Given the description of an element on the screen output the (x, y) to click on. 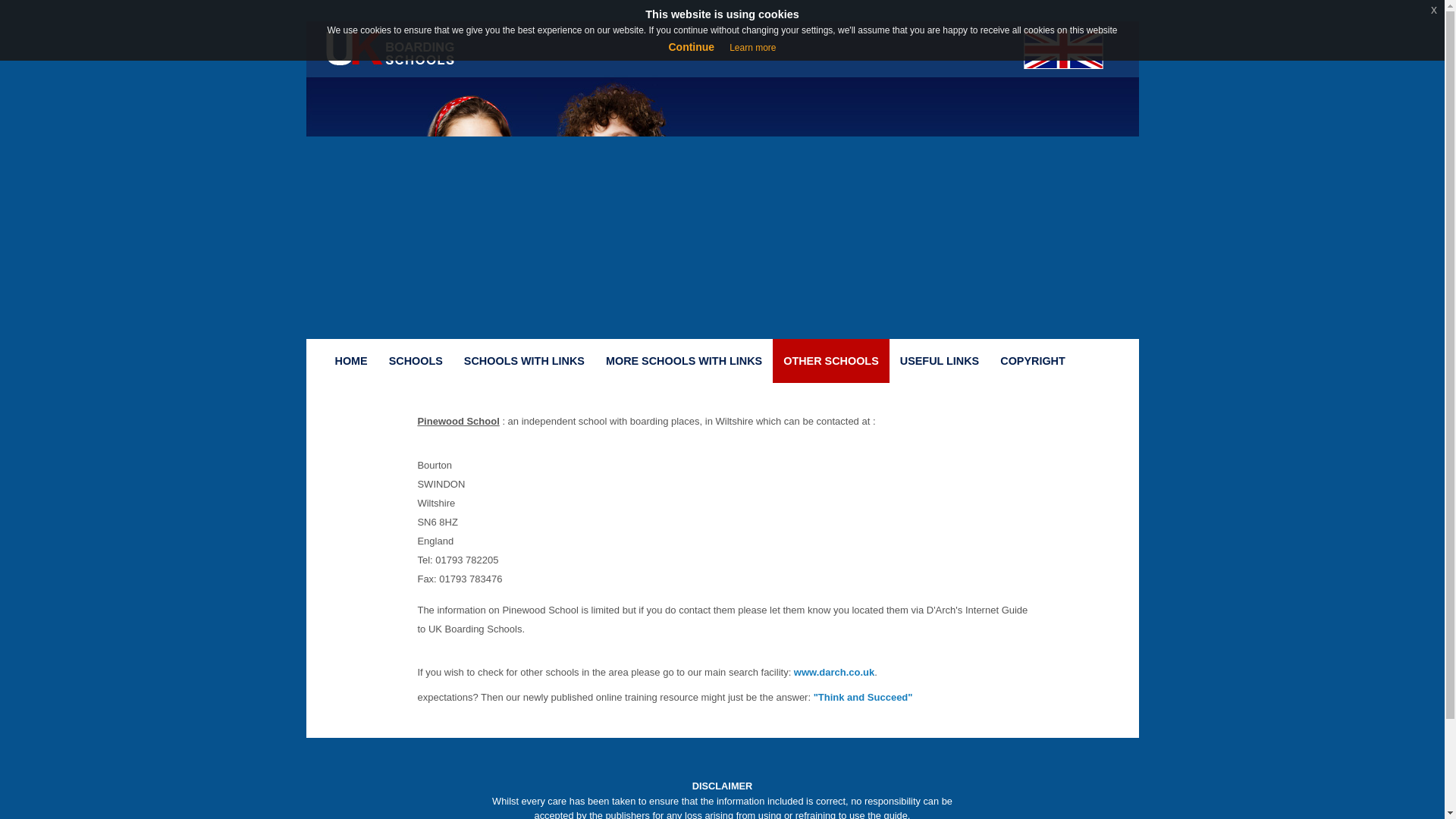
OTHER SCHOOLS (831, 361)
SCHOOLS WITH LINKS (523, 361)
MORE SCHOOLS WITH LINKS (684, 361)
SCHOOLS (415, 361)
HOME (351, 361)
